Given the description of an element on the screen output the (x, y) to click on. 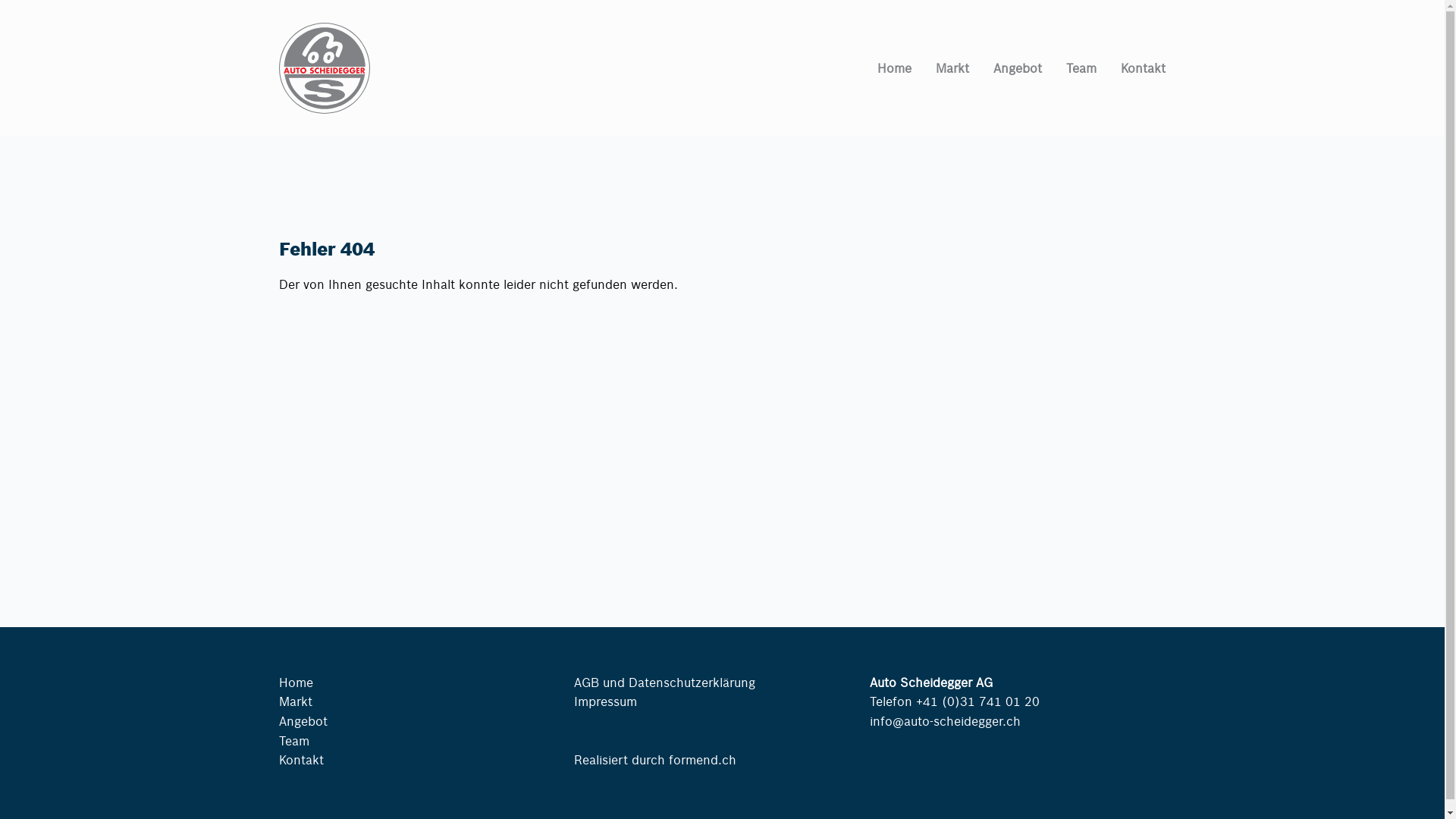
Team Element type: text (294, 740)
Team Element type: text (1068, 67)
Impressum Element type: text (605, 701)
Kontakt Element type: text (1130, 67)
info@auto-scheidegger.ch Element type: text (944, 720)
Angebot Element type: text (1005, 67)
Kontakt Element type: text (301, 759)
Markt Element type: text (295, 701)
formend.ch Element type: text (702, 759)
Angebot Element type: text (303, 720)
Home Element type: text (882, 67)
Markt Element type: text (940, 67)
+41 (0)31 741 01 20 Element type: text (977, 701)
Auto Scheidegger Element type: hover (324, 108)
Home Element type: text (296, 682)
